Given the description of an element on the screen output the (x, y) to click on. 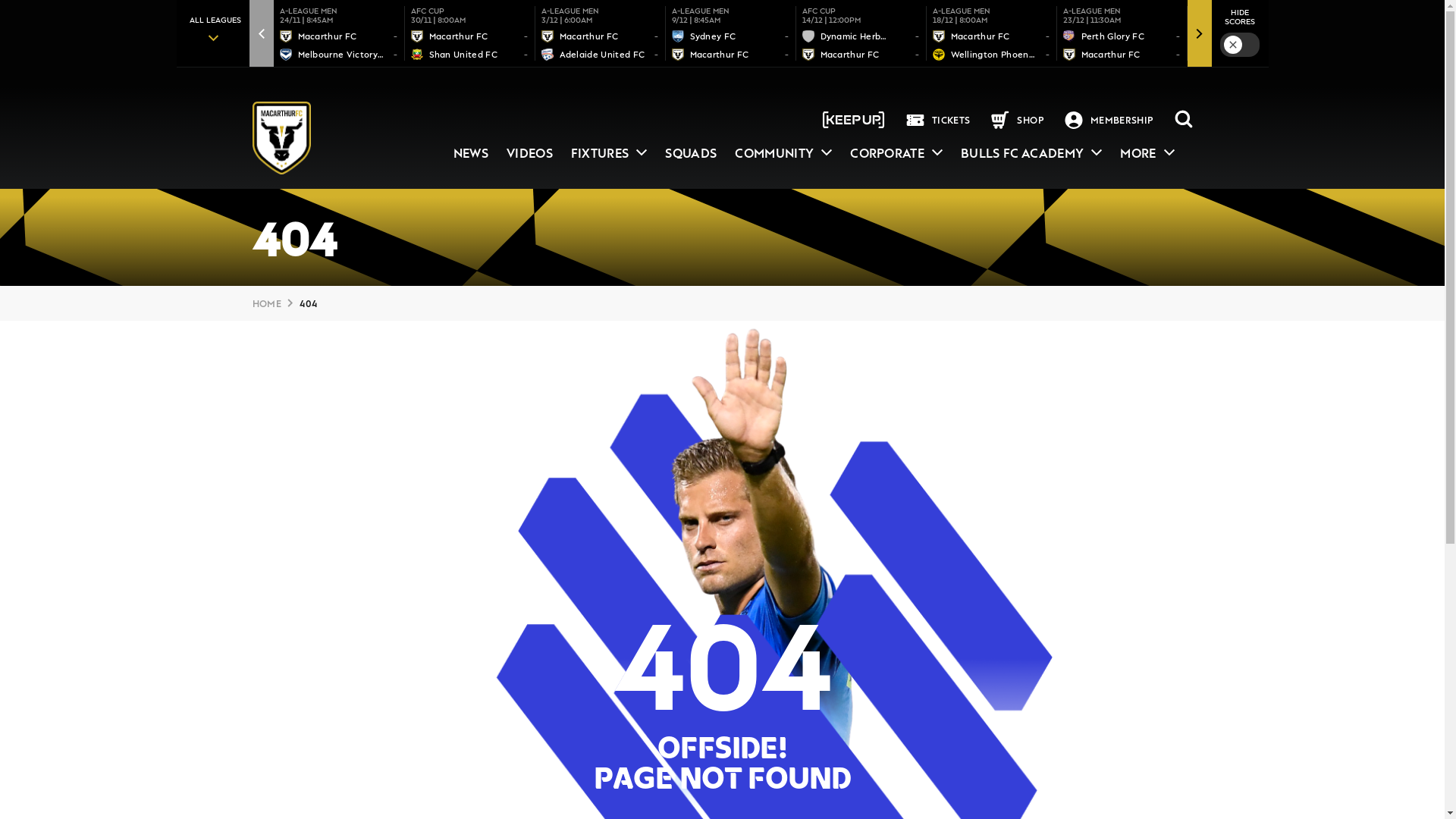
SHOP Element type: text (1027, 119)
MEMBERSHIP Element type: text (1119, 119)
NEWS Element type: text (470, 152)
FIXTURES Element type: text (609, 152)
BULLS FC ACADEMY Element type: text (1030, 152)
CORPORATE Element type: text (896, 152)
TICKETS Element type: text (948, 119)
A-LEAGUE MEN
9/12 | 8:45AM
Sydney FC
-
Macarthur FC
- Element type: text (730, 33)
SQUADS Element type: text (690, 152)
VIDEOS Element type: text (529, 152)
AFC CUP
30/11 | 8:00AM
Macarthur FC
-
Shan United FC
- Element type: text (469, 33)
HOME Element type: text (265, 303)
SEARCH Element type: text (1182, 119)
COMMUNITY Element type: text (782, 152)
MORE Element type: text (1146, 152)
404 Element type: text (307, 303)
A-LEAGUE MEN
23/12 | 11:30AM
Perth Glory FC
-
Macarthur FC
- Element type: text (1121, 33)
